Given the description of an element on the screen output the (x, y) to click on. 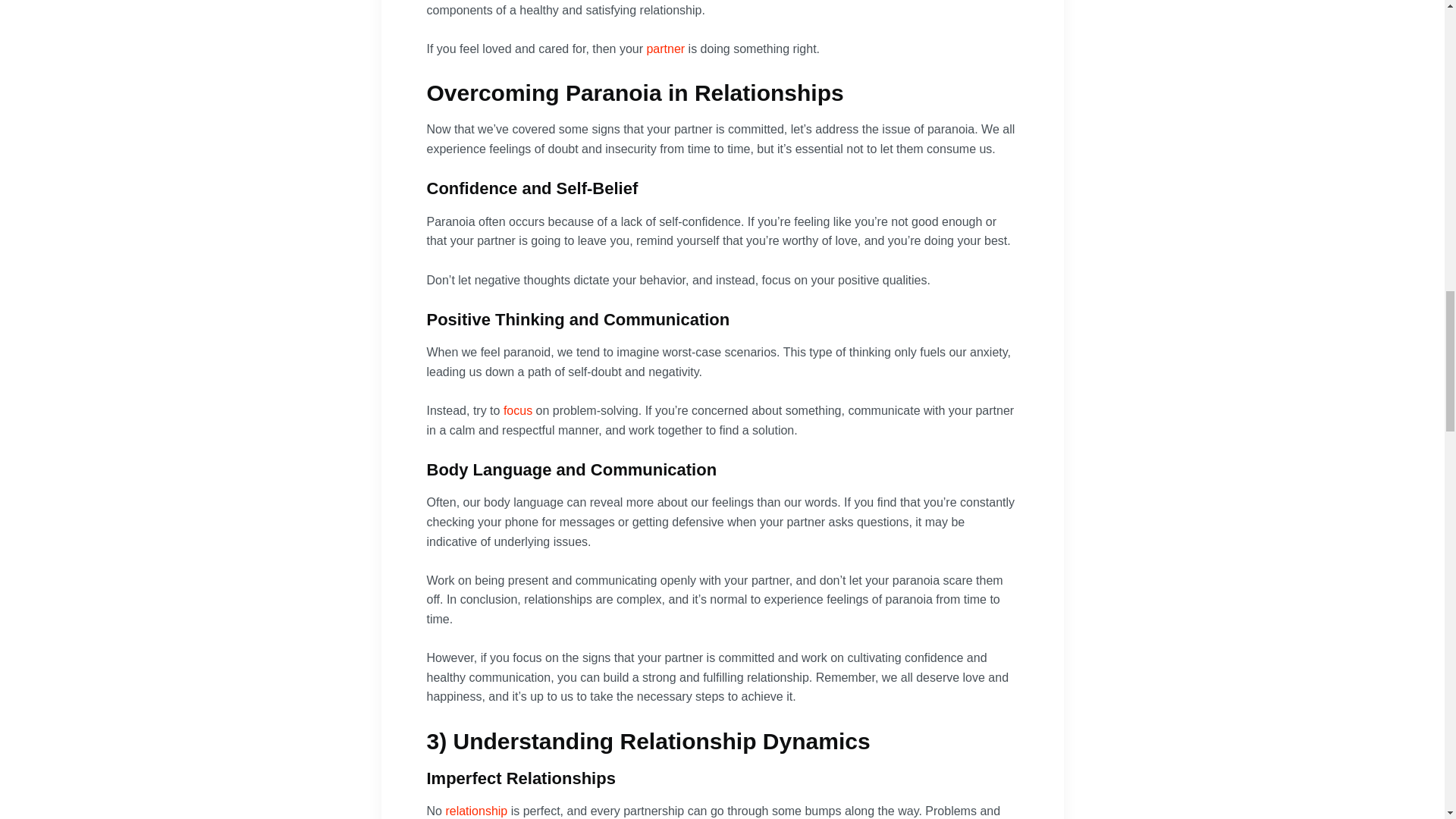
partner (665, 48)
relationship (475, 810)
focus (517, 410)
